Given the description of an element on the screen output the (x, y) to click on. 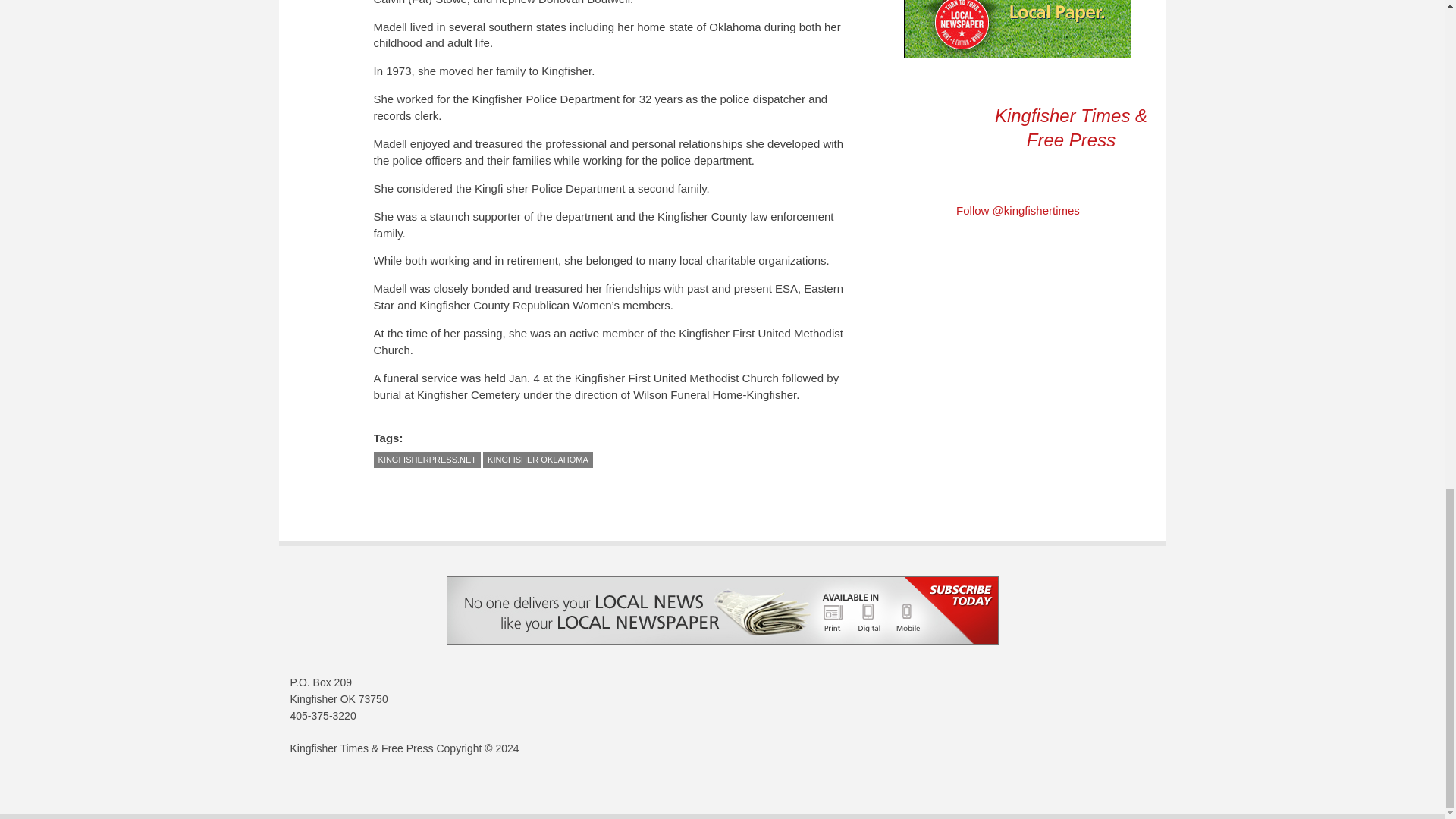
KINGFISHER OKLAHOMA (537, 459)
KINGFISHERPRESS.NET (426, 459)
